Given the description of an element on the screen output the (x, y) to click on. 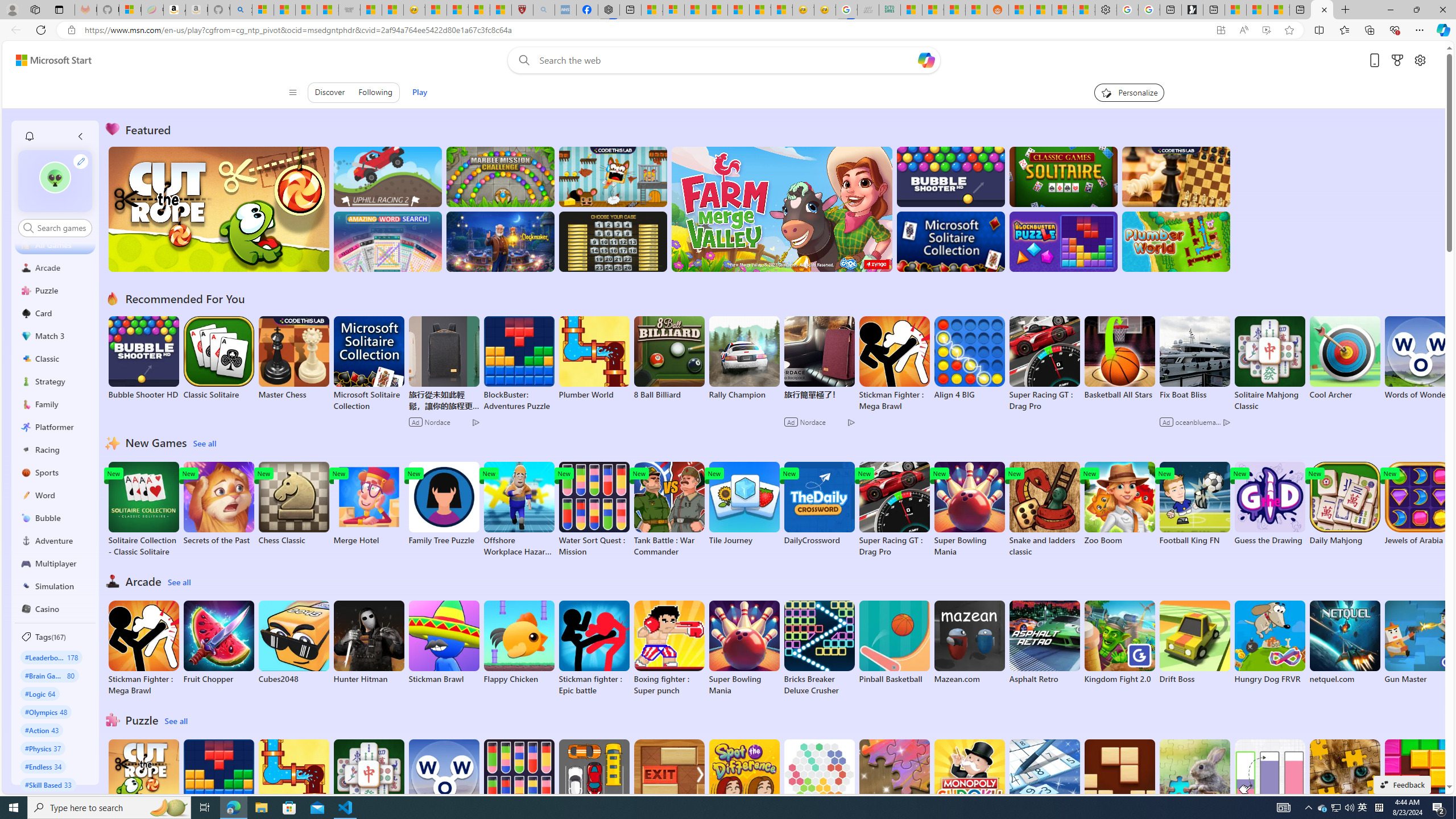
Snake and ladders classic (1044, 509)
Zoo Boom (1119, 503)
Microsoft Start Gaming (1192, 9)
Tile Journey (744, 503)
Master Chess (293, 358)
Skip to footer (46, 59)
Classic Solitaire (218, 358)
Basketball All Stars (1119, 358)
Hungry Dog FRVR (1269, 642)
Hunter Hitman (368, 642)
Amazing Word Search (387, 241)
Asphalt Retro (1044, 642)
